Given the description of an element on the screen output the (x, y) to click on. 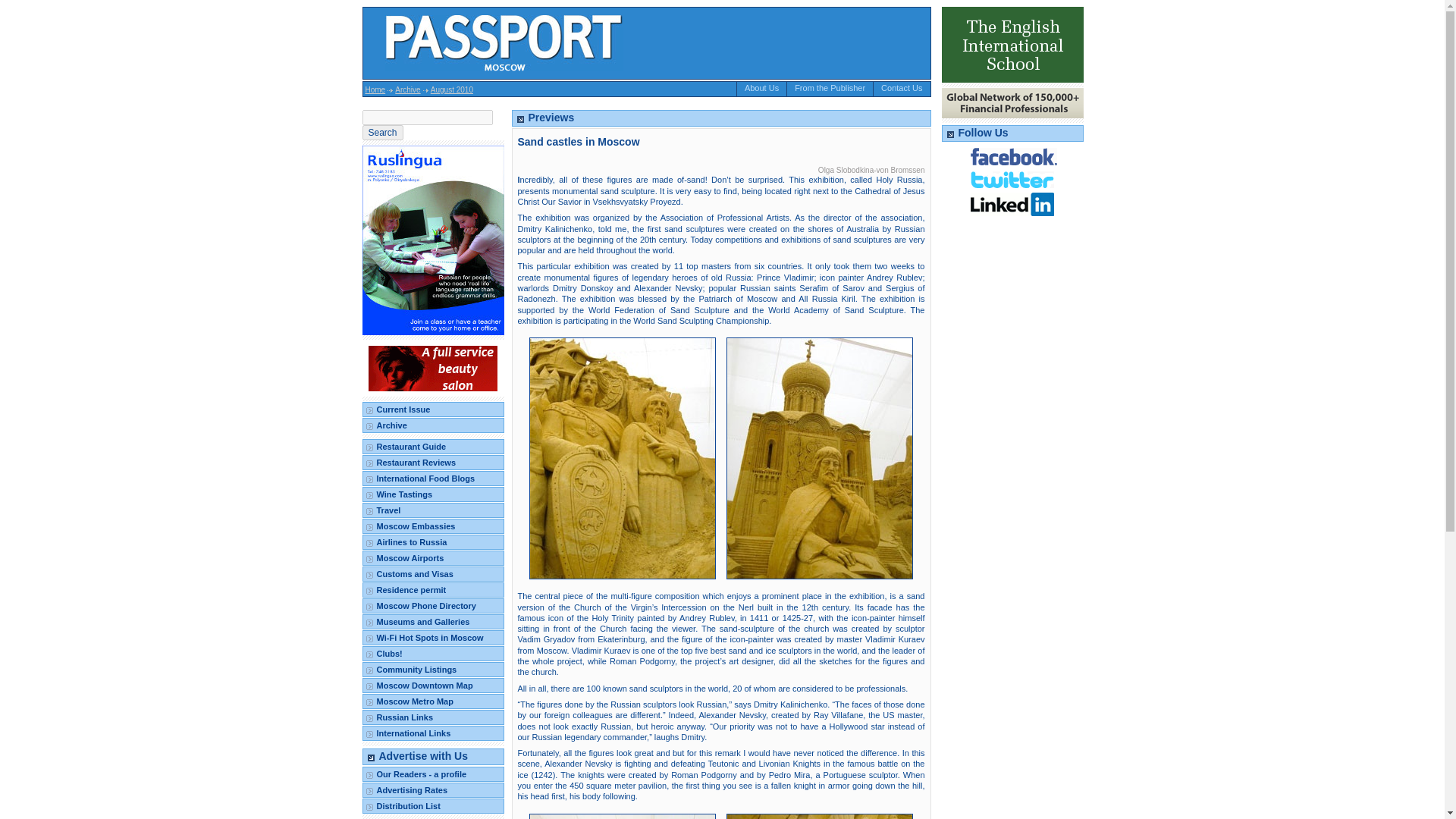
Archive (407, 89)
Search (382, 132)
Wi-Fi Hot Spots in Moscow (432, 637)
Current Issue (432, 409)
Moscow Embassies (432, 525)
Museums and Galleries (432, 621)
Home (375, 89)
Community Listings (432, 669)
Moscow Phone Directory (432, 605)
Residence permit (432, 589)
Search (382, 132)
Moscow Downtown Map (432, 685)
Advertising Rates (432, 789)
Restaurant Guide (432, 446)
Wine Tastings (432, 494)
